Given the description of an element on the screen output the (x, y) to click on. 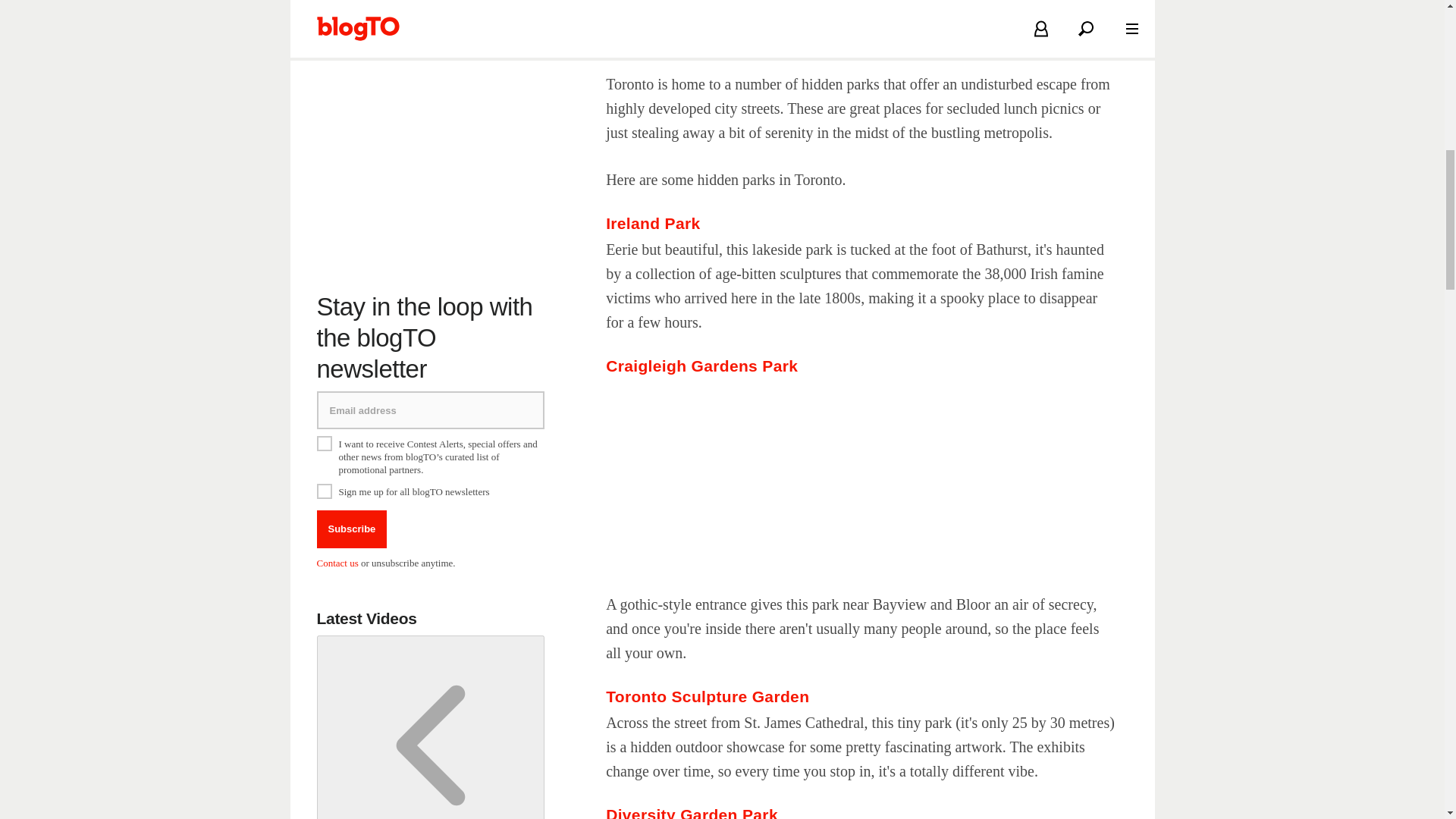
Subscribe (352, 528)
